Given the description of an element on the screen output the (x, y) to click on. 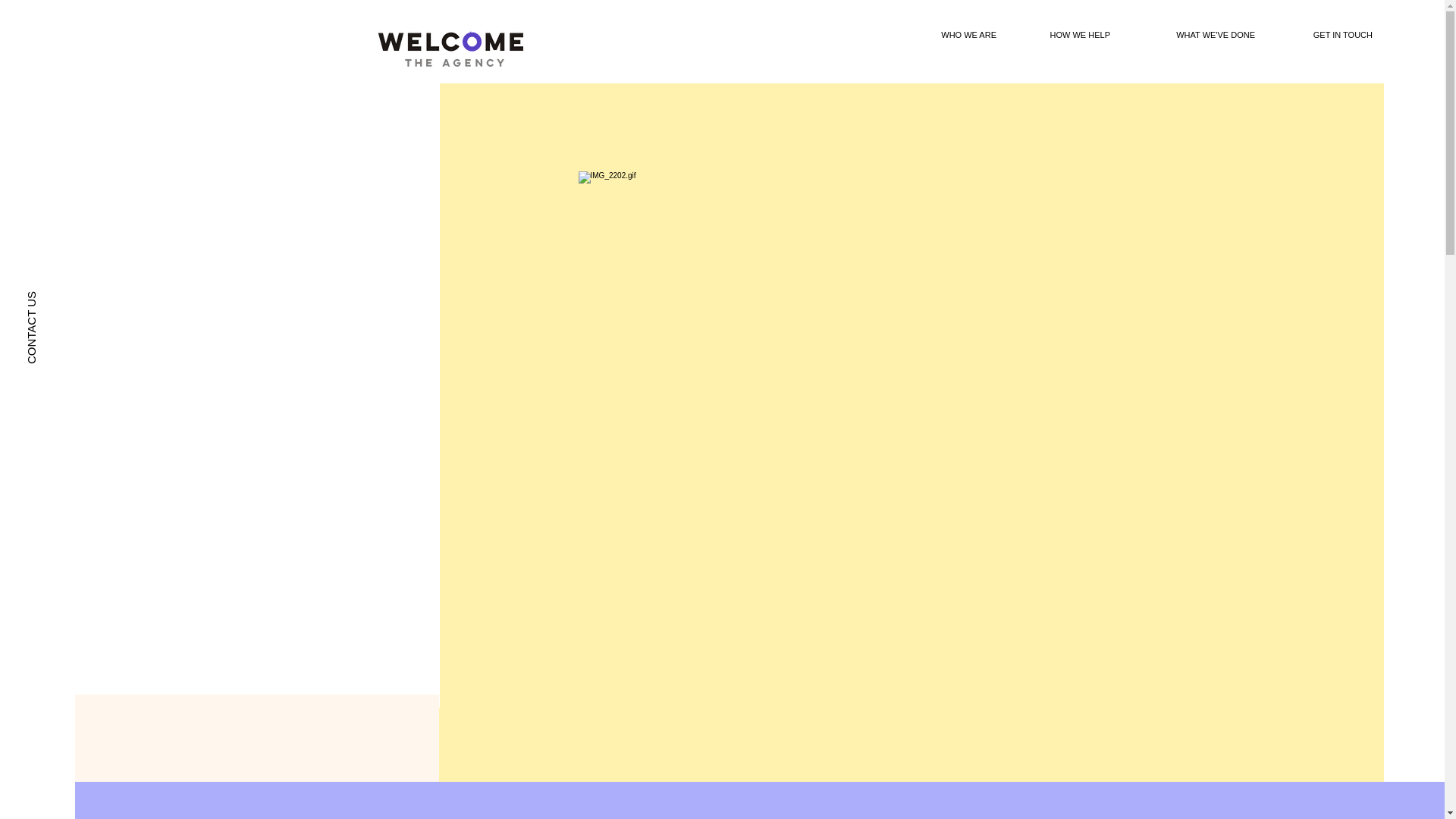
HOW WE HELP (1064, 34)
WHO WE ARE (954, 34)
GET IN TOUCH (1325, 34)
WHAT WE'VE DONE (1193, 34)
CONTACT US (68, 287)
